Given the description of an element on the screen output the (x, y) to click on. 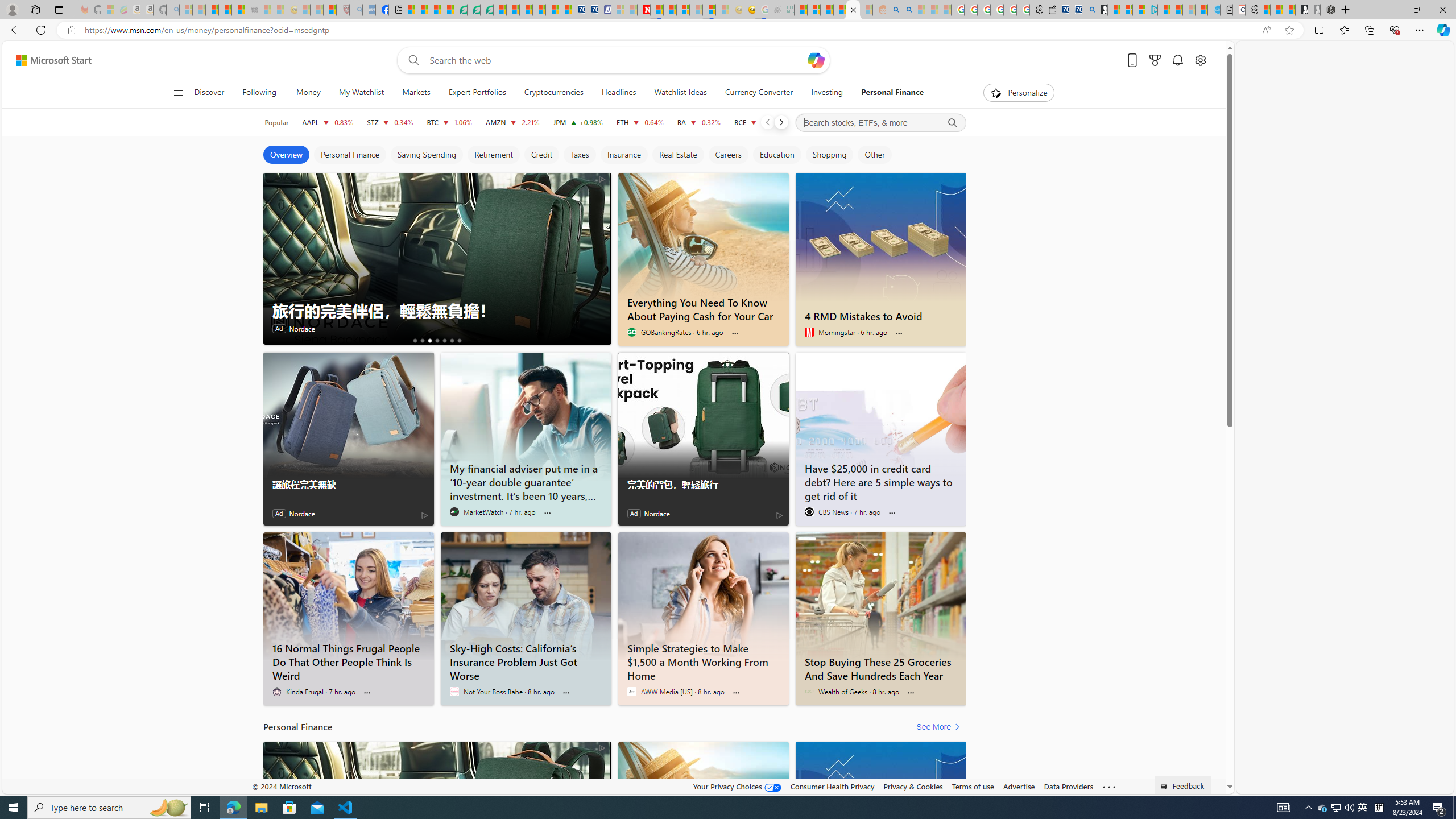
Insurance (623, 154)
Class: feedback_link_icon-DS-EntryPoint1-1 (1165, 786)
Personal Finance (892, 92)
Saving Spending (426, 154)
